Given the description of an element on the screen output the (x, y) to click on. 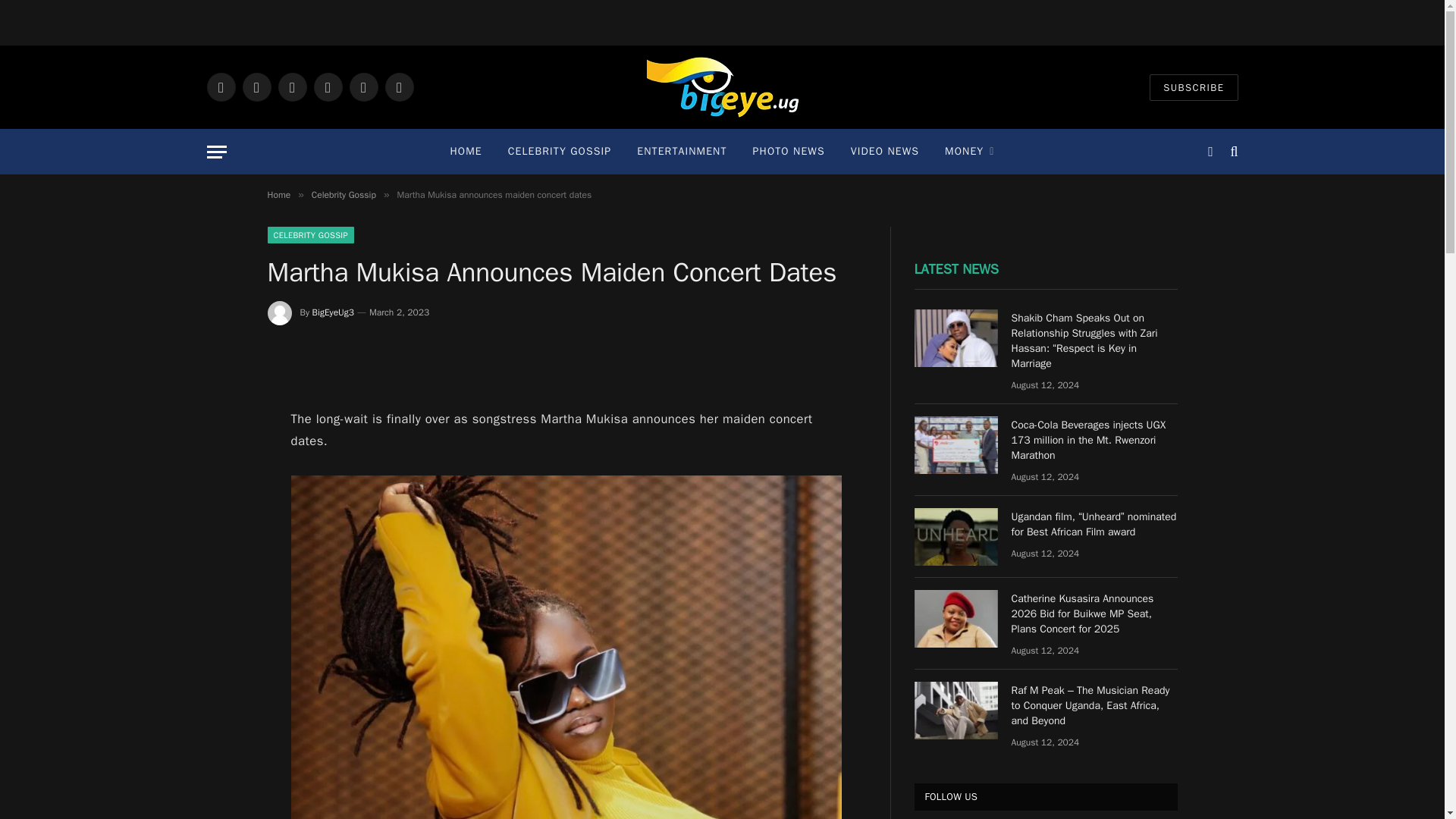
SUBSCRIBE (1193, 87)
YouTube (328, 86)
TikTok (399, 86)
Posts by BigEyeUg3 (333, 312)
Home (277, 194)
MONEY (969, 151)
Switch to Light Design. (1209, 151)
BigEye.UG (721, 86)
HOME (465, 151)
ENTERTAINMENT (681, 151)
